Given the description of an element on the screen output the (x, y) to click on. 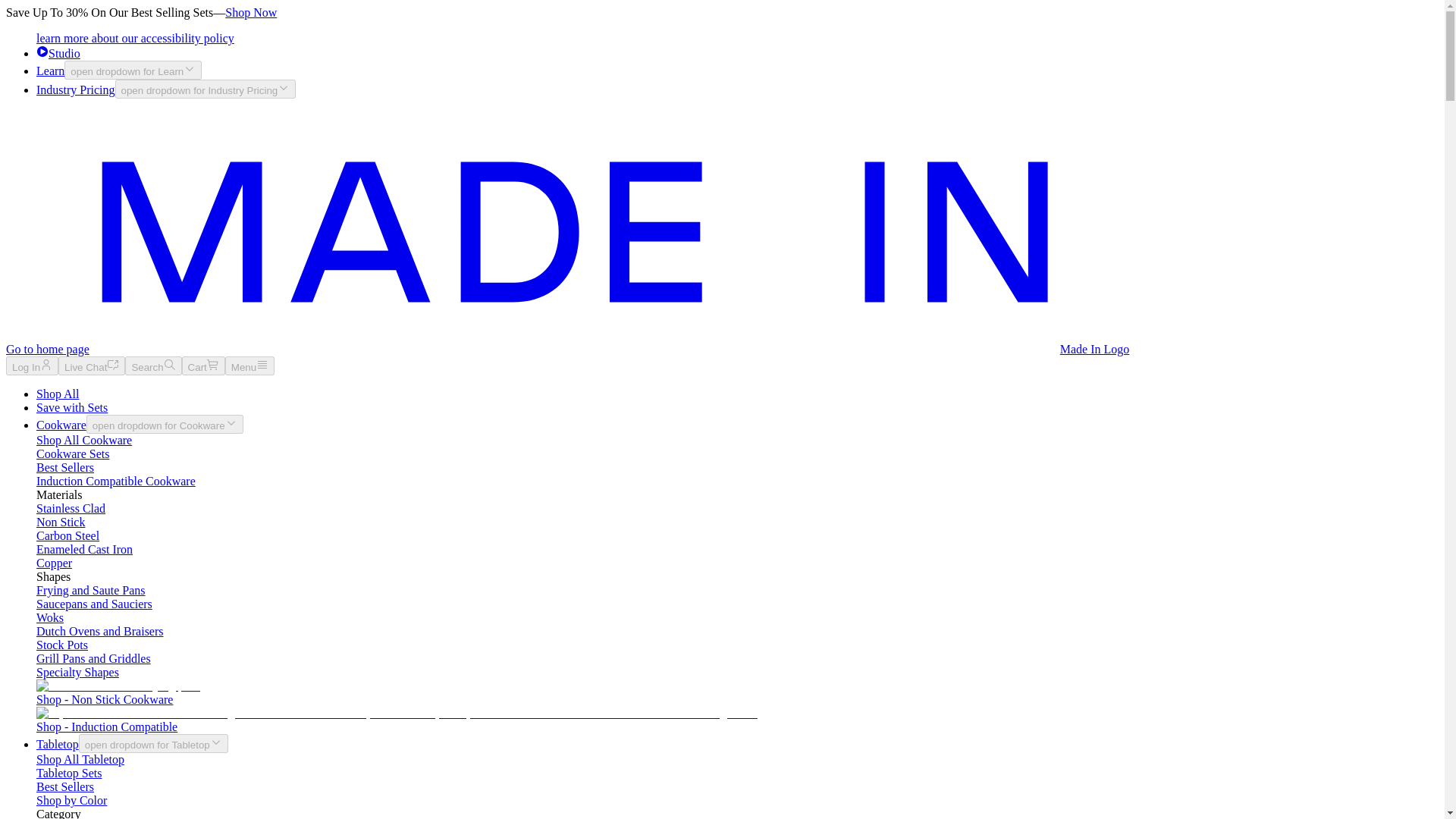
Cookware (60, 424)
open dropdown for Learn (133, 69)
Live Chat (91, 365)
Learn (50, 70)
Induction Compatible Cookware (115, 481)
Cart (203, 365)
Enameled Cast Iron (84, 549)
Stainless Clad (70, 508)
open dropdown for Tabletop (153, 742)
Live Chat (91, 365)
Stock Pots (61, 644)
Tabletop Sets (68, 772)
Woks (50, 617)
open dropdown for Industry Pricing (206, 88)
Shop All Cookware (84, 440)
